Given the description of an element on the screen output the (x, y) to click on. 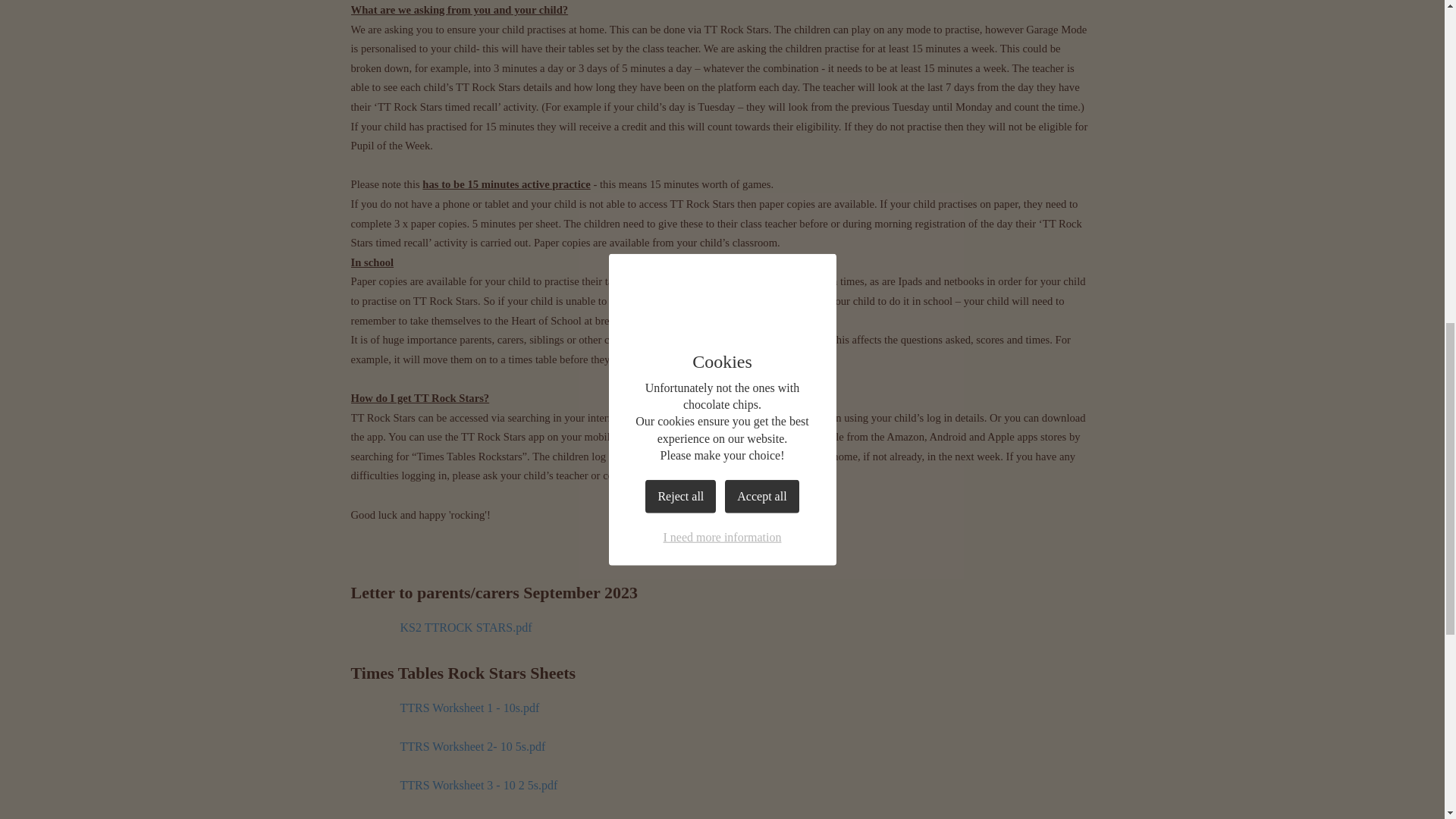
TTRS Worksheet 3 - 10 2 5s.pdf (453, 785)
TTRS Worksheet 2- 10 5s.pdf (447, 746)
TTRS Worksheet 1 - 10s.pdf (444, 708)
KS2 TTROCK STARS.pdf (440, 626)
TTRS Worksheet 4 - 2 5 3s.pdf (450, 812)
